Given the description of an element on the screen output the (x, y) to click on. 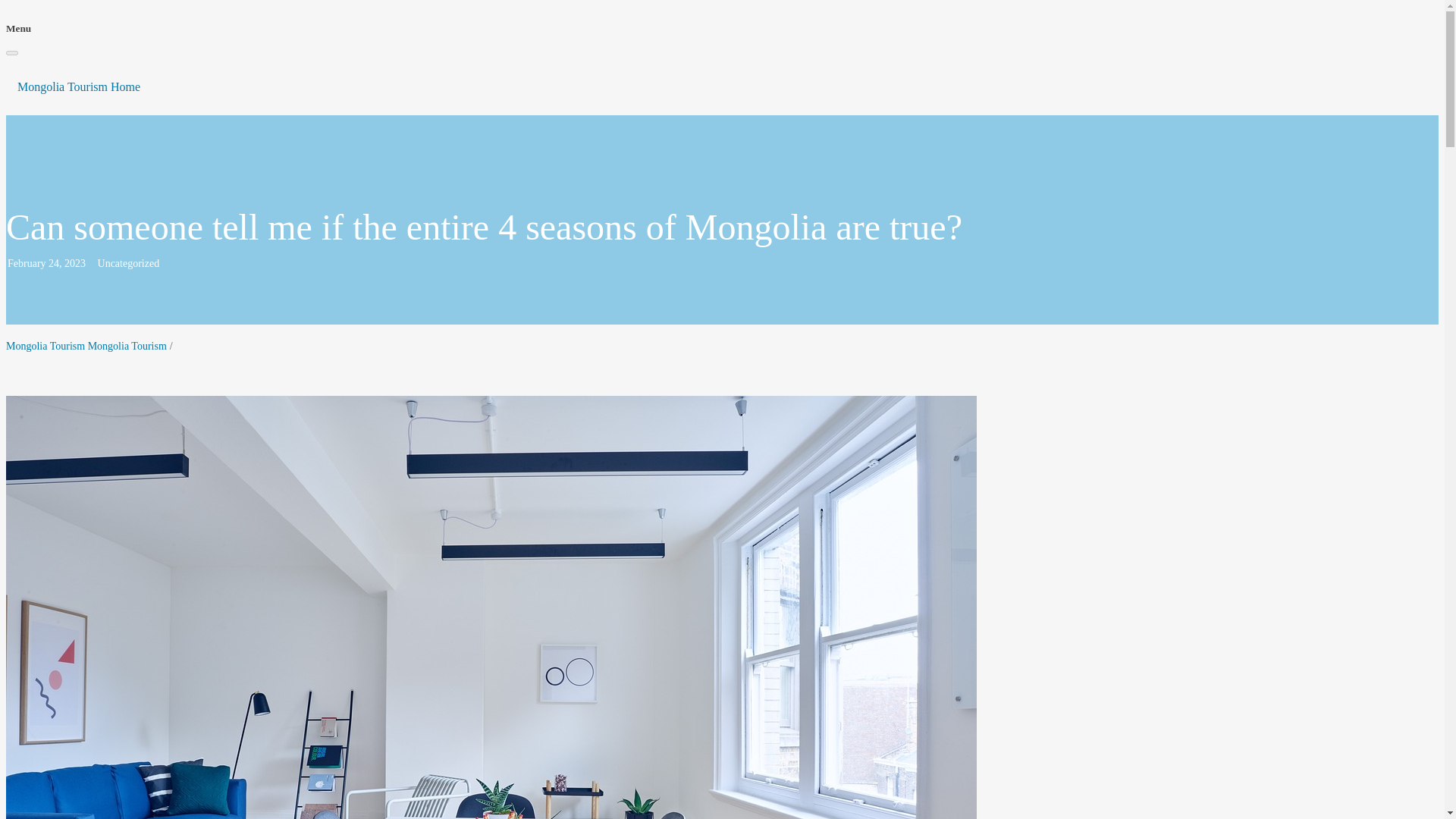
24 (53, 263)
February (26, 263)
Mongolia Tourism Mongolia Tourism (86, 346)
2023 (74, 263)
